Given the description of an element on the screen output the (x, y) to click on. 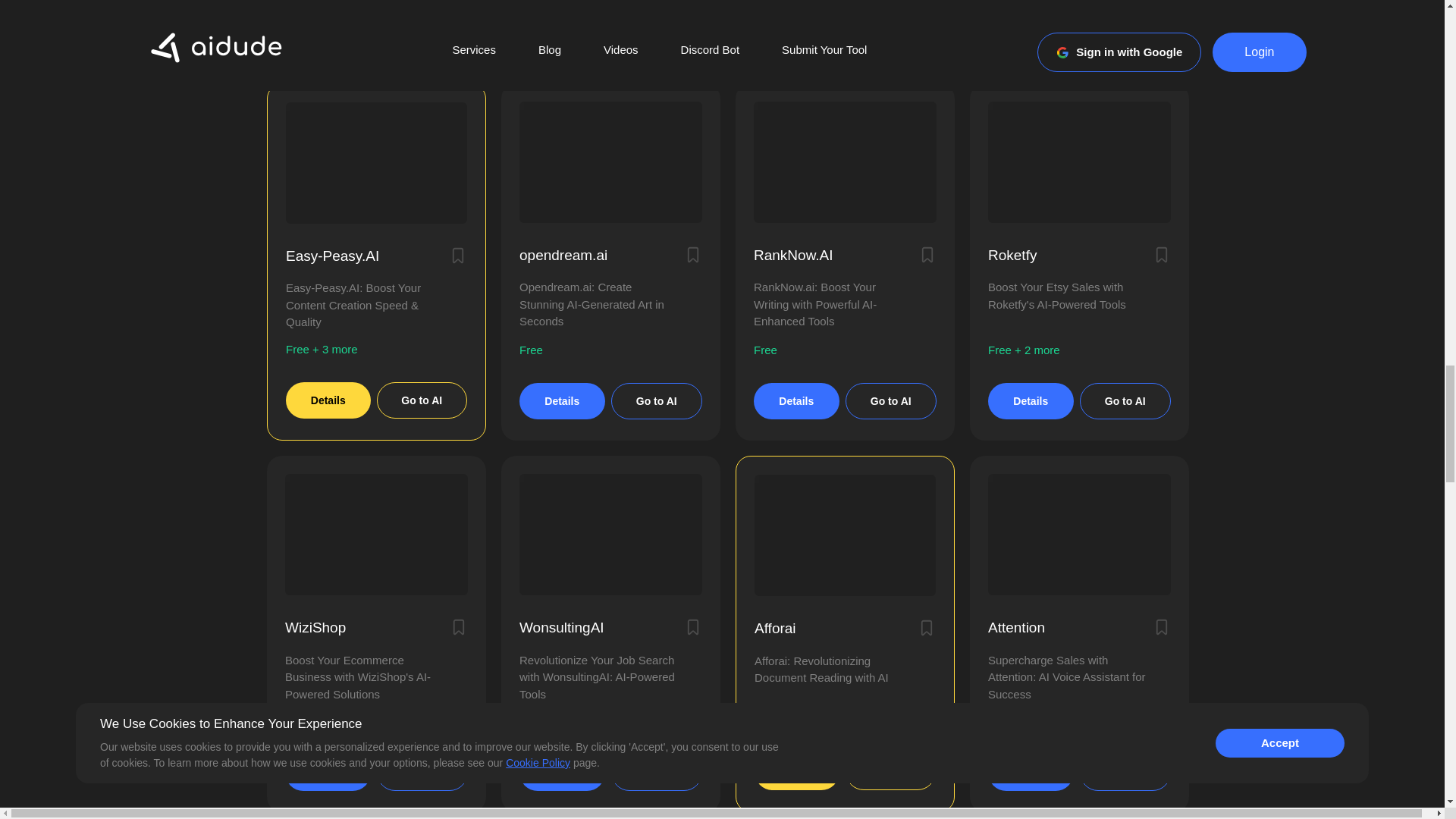
Details (328, 400)
Go to AI (890, 401)
opendream.ai (563, 254)
Roketfy (1012, 254)
Easy-Peasy.AI (331, 255)
Details (797, 401)
Go to AI (421, 400)
RankNow.AI (793, 254)
Go to AI (657, 401)
Details (562, 401)
